Given the description of an element on the screen output the (x, y) to click on. 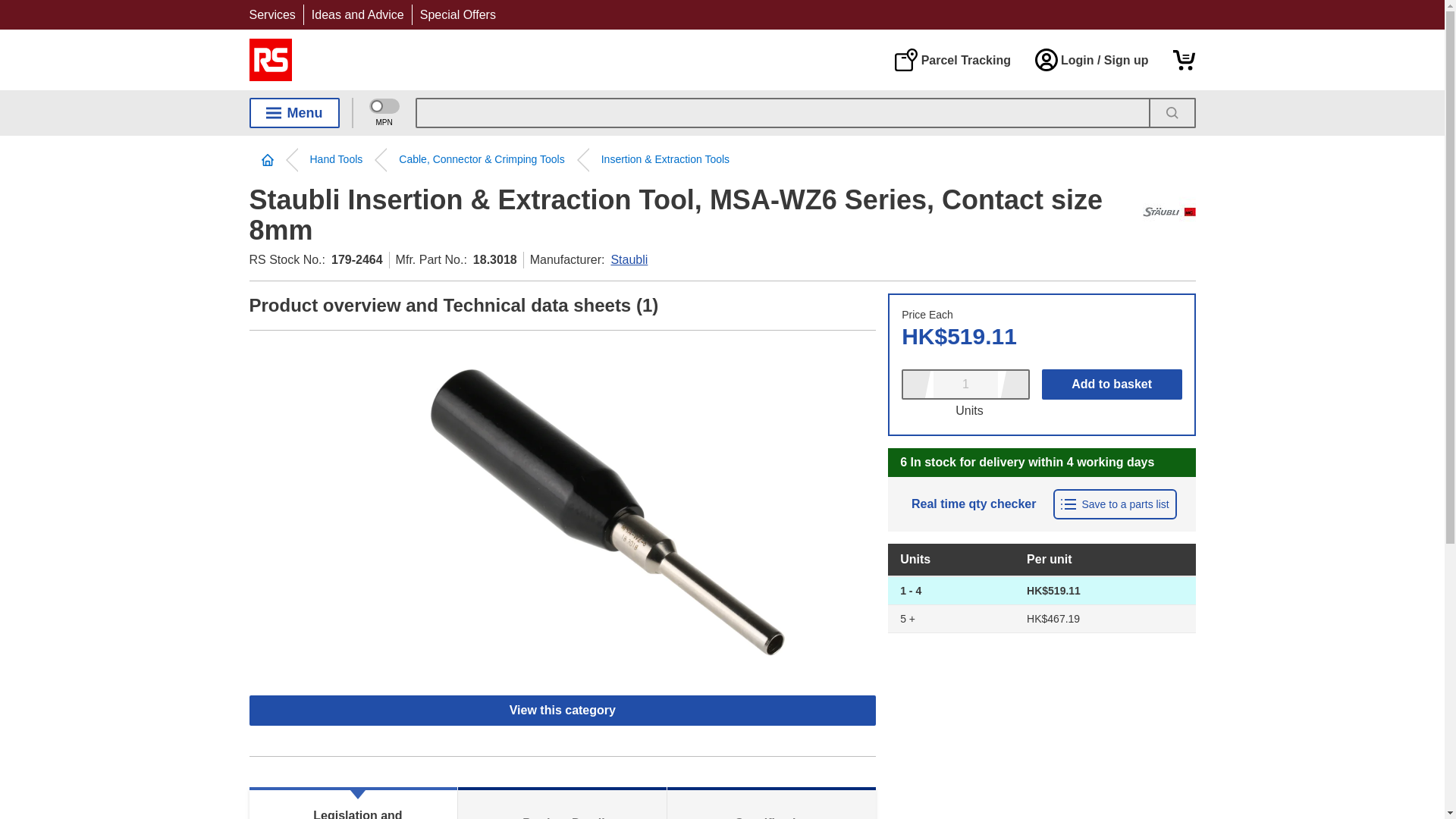
1 (965, 384)
Special Offers (458, 14)
Staubli (1168, 211)
Ideas and Advice (357, 14)
Menu (293, 112)
Parcel Tracking (951, 59)
Services (271, 14)
